Given the description of an element on the screen output the (x, y) to click on. 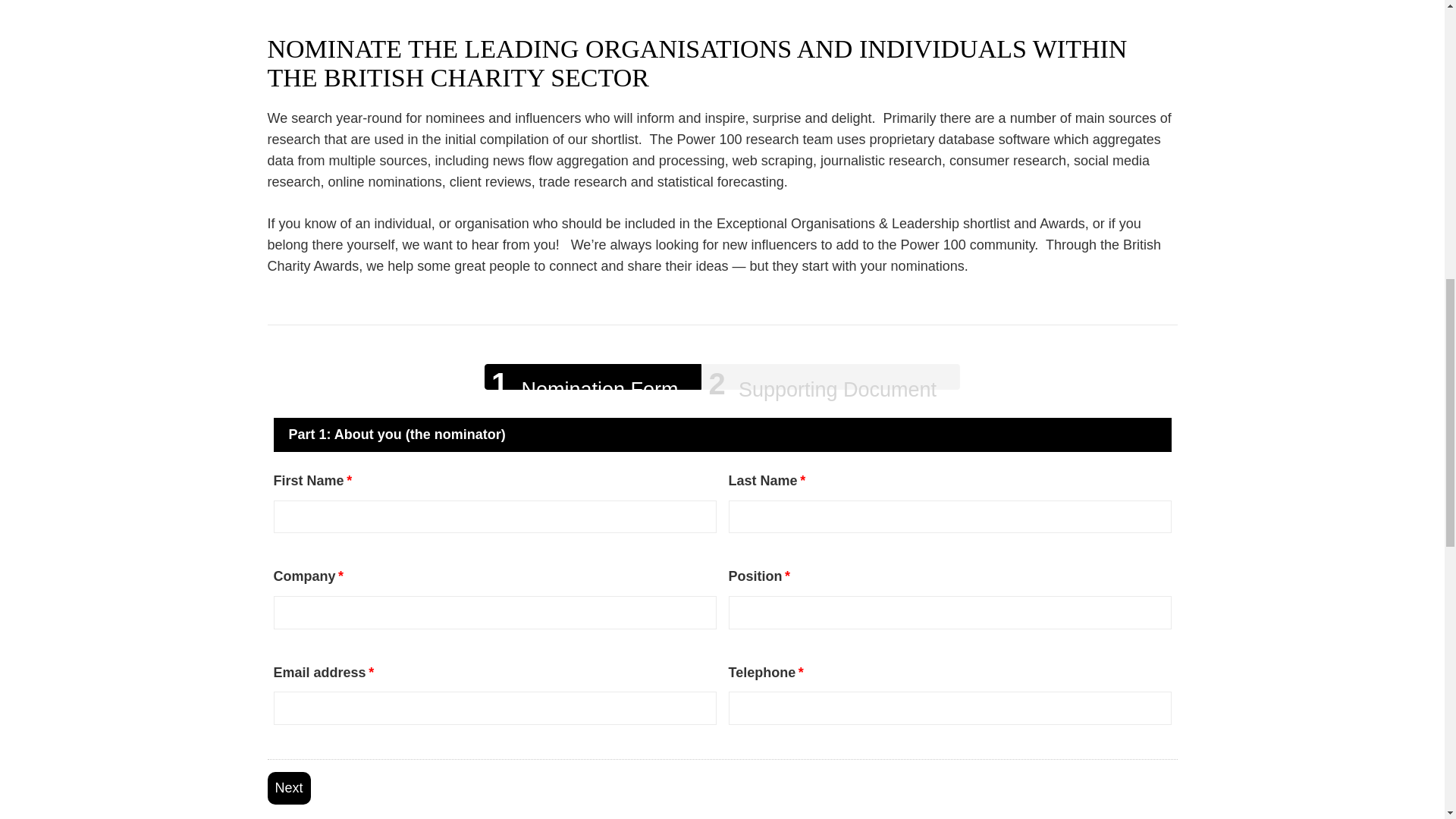
Back to top (1413, 37)
Next (288, 788)
